Given the description of an element on the screen output the (x, y) to click on. 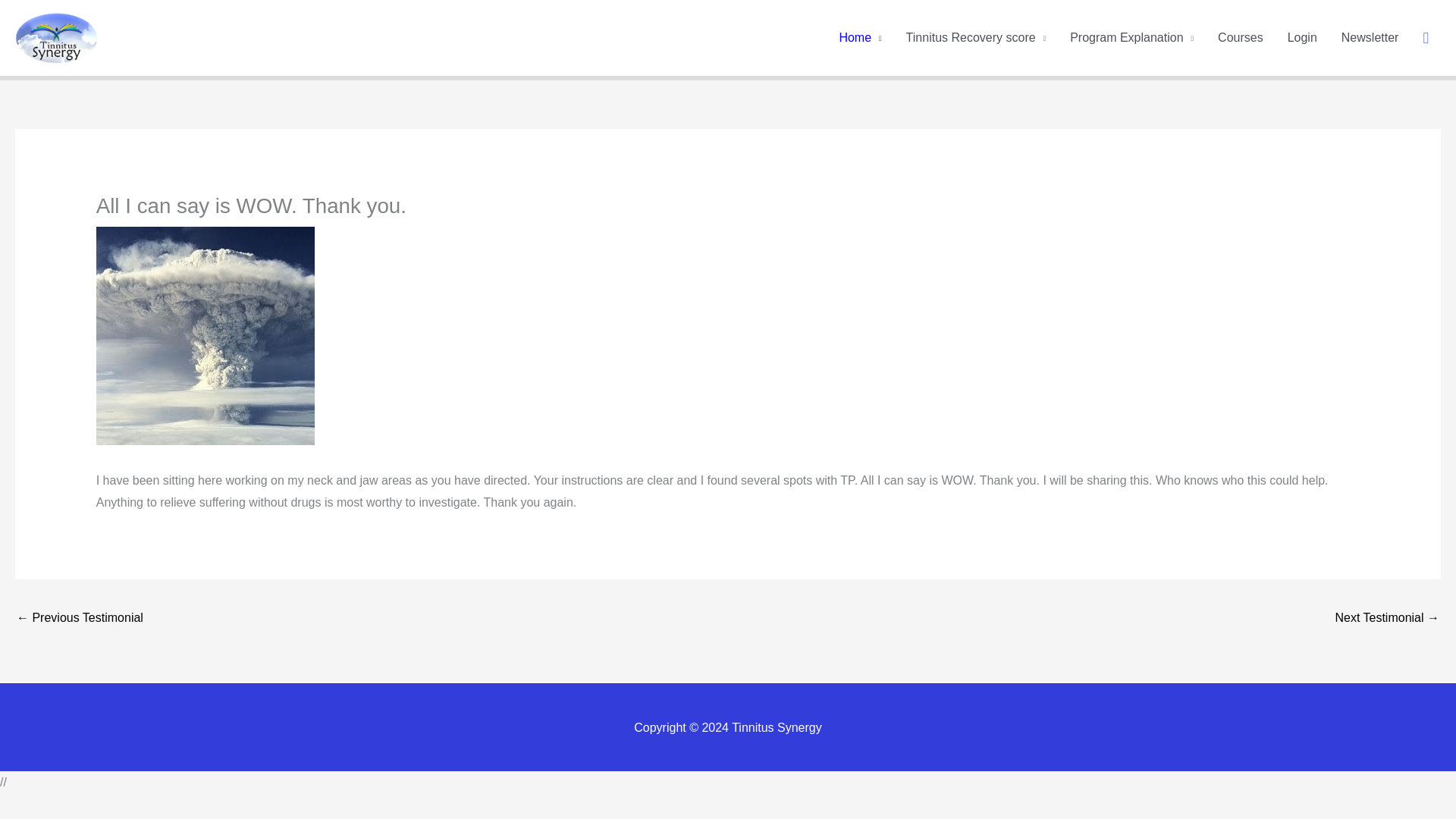
Program Explanation (1131, 38)
Newsletter (1369, 38)
Courses (1240, 38)
Thank you for saving my life (79, 619)
Tinnitus Recovery score (975, 38)
